Given the description of an element on the screen output the (x, y) to click on. 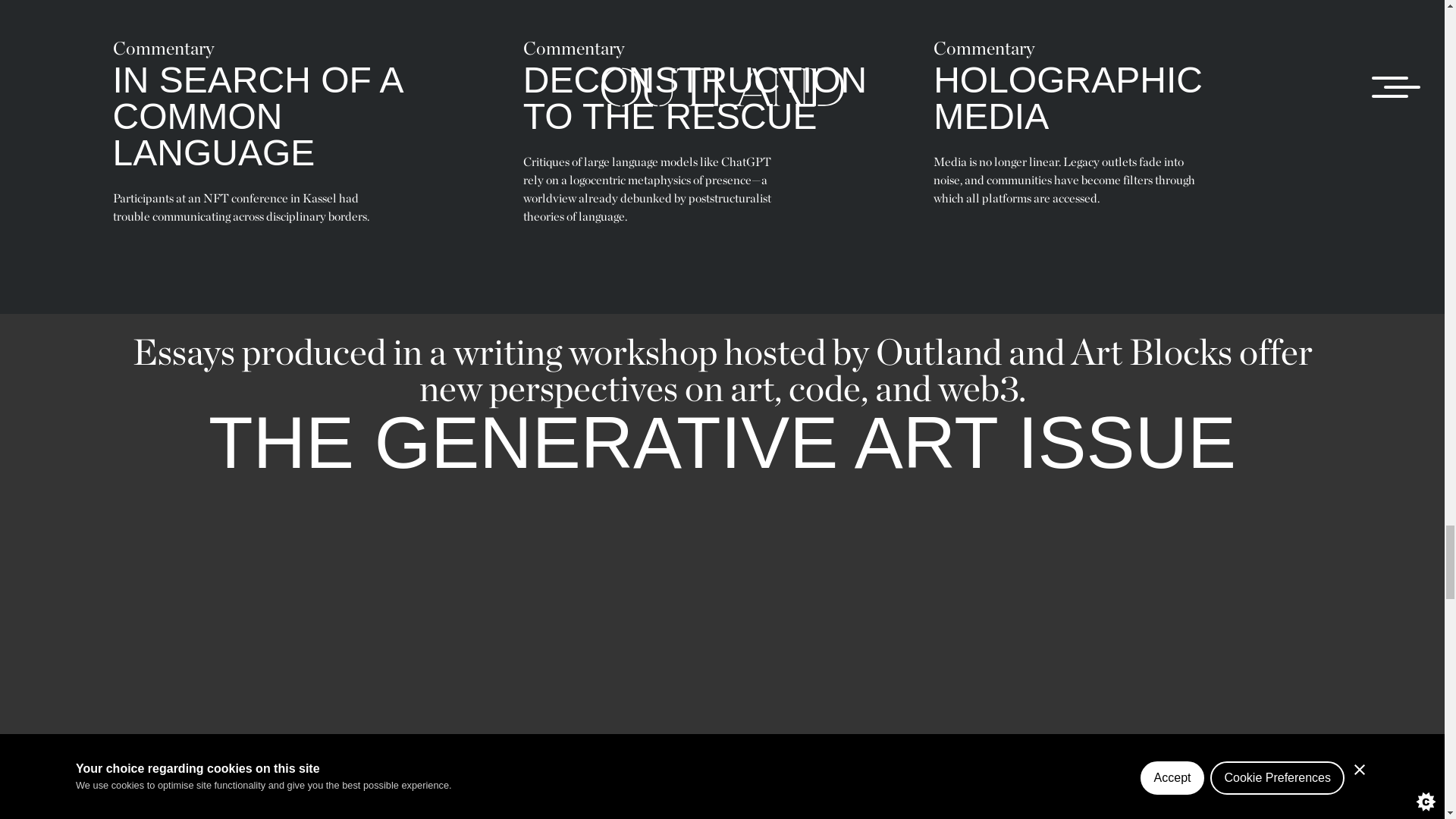
Commentary (163, 47)
Holographic Media (1132, 117)
In Search of a Common Language (311, 126)
Commentary (573, 47)
Deconstruction to the Rescue (721, 126)
Commentary (984, 47)
